Given the description of an element on the screen output the (x, y) to click on. 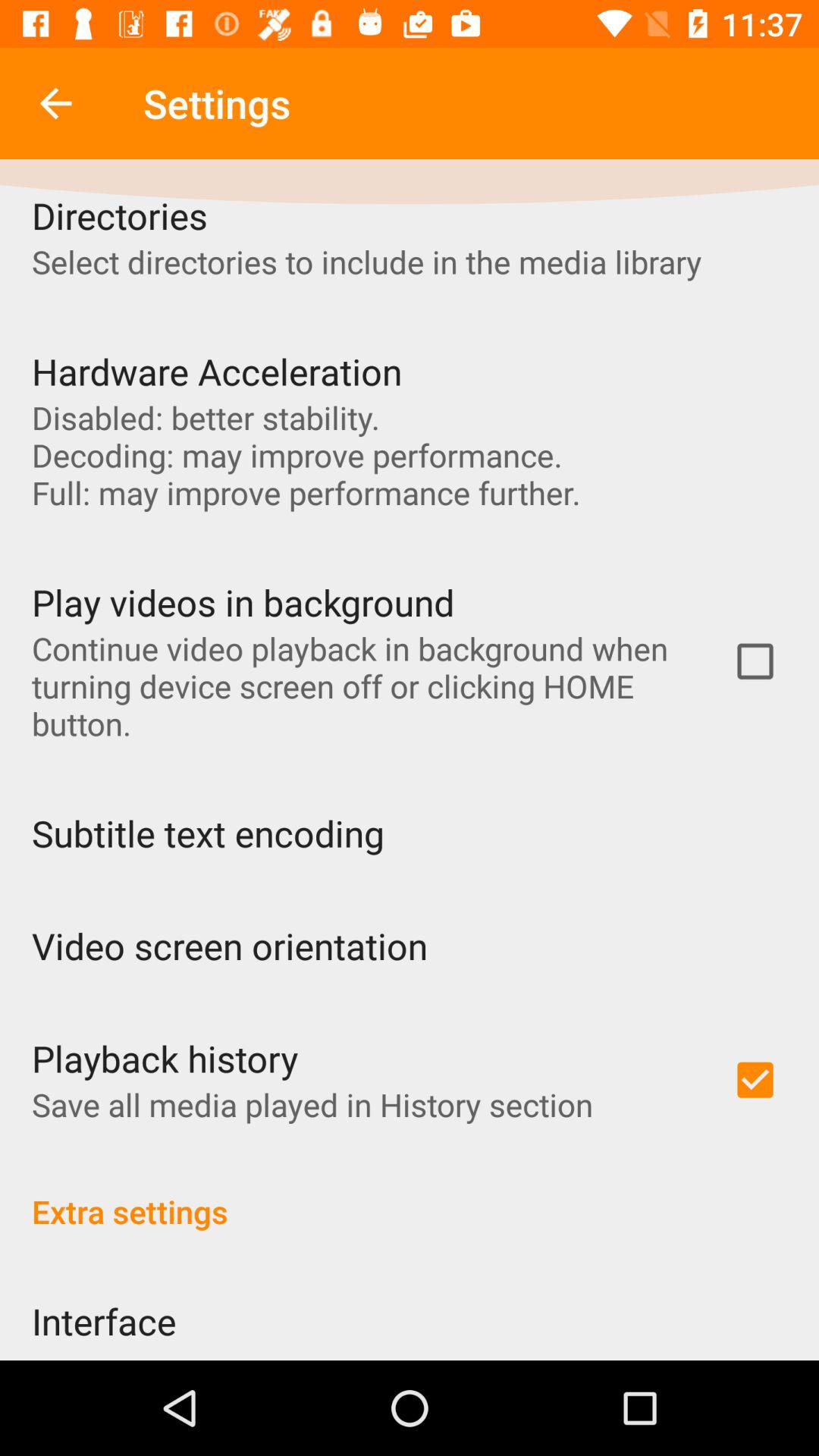
launch the icon below save all media item (409, 1195)
